Given the description of an element on the screen output the (x, y) to click on. 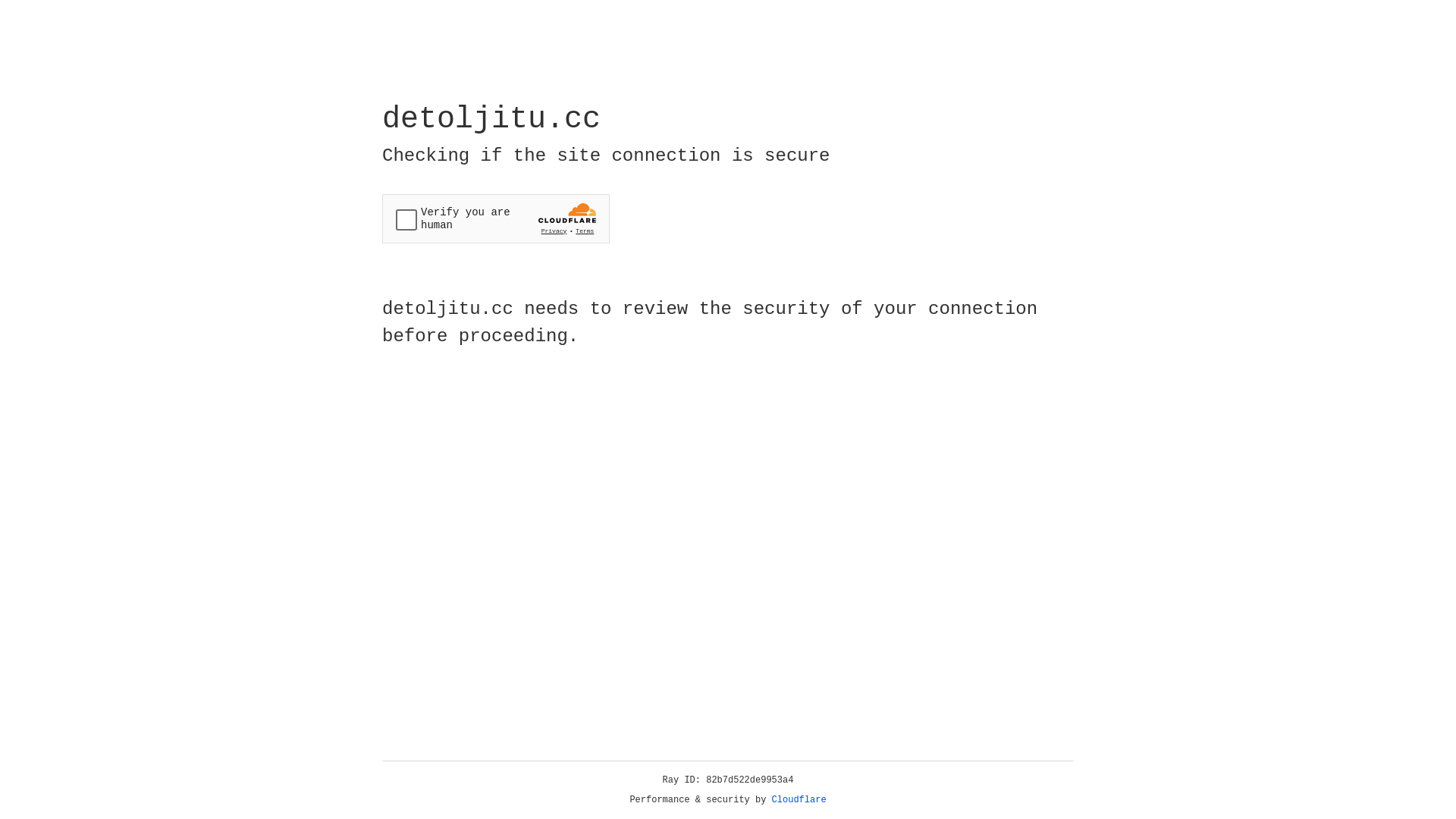
Widget containing a Cloudflare security challenge Element type: hover (495, 218)
Cloudflare Element type: text (798, 799)
